Given the description of an element on the screen output the (x, y) to click on. 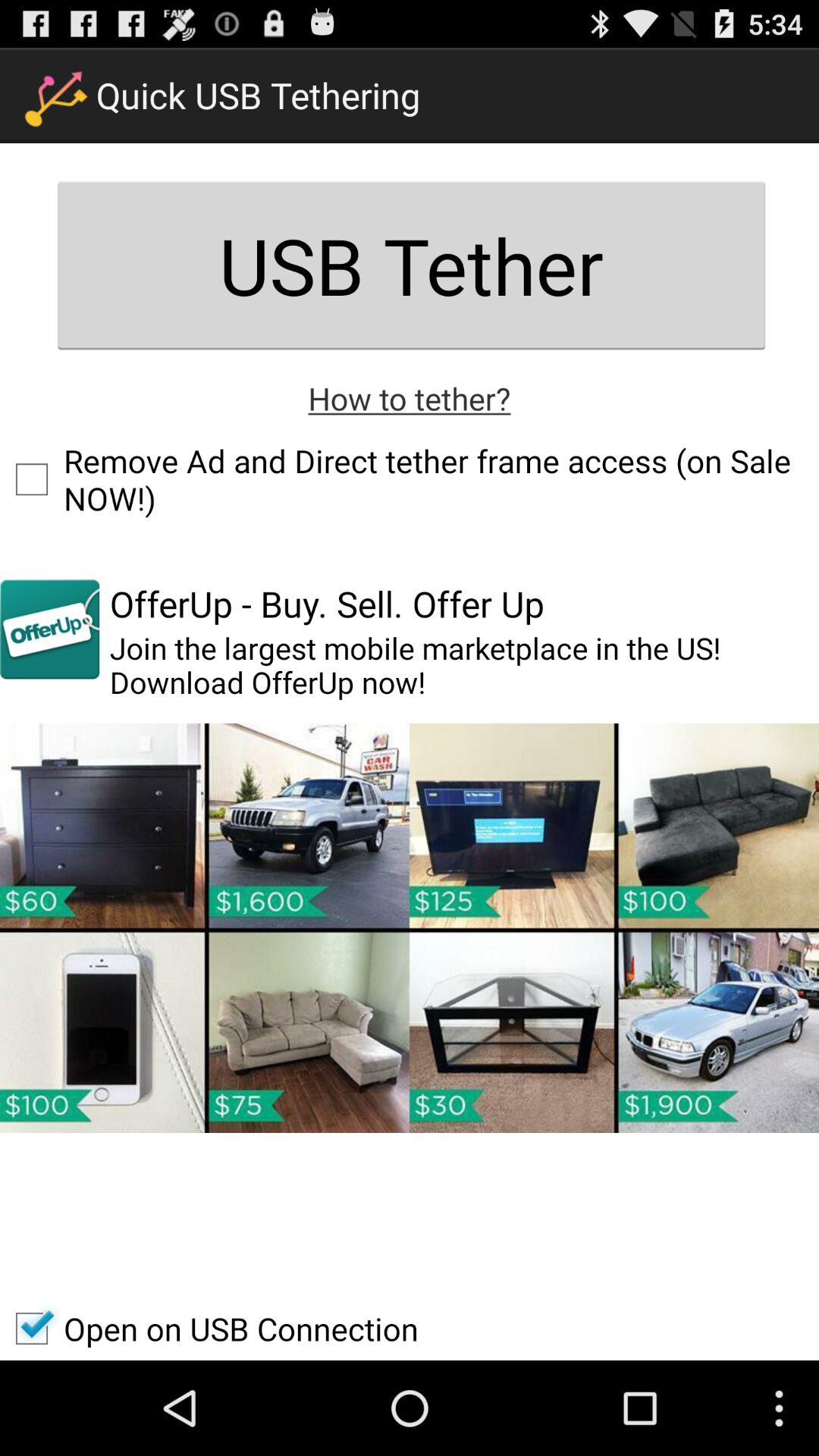
choose the app to the left of offerup buy sell item (49, 629)
